Given the description of an element on the screen output the (x, y) to click on. 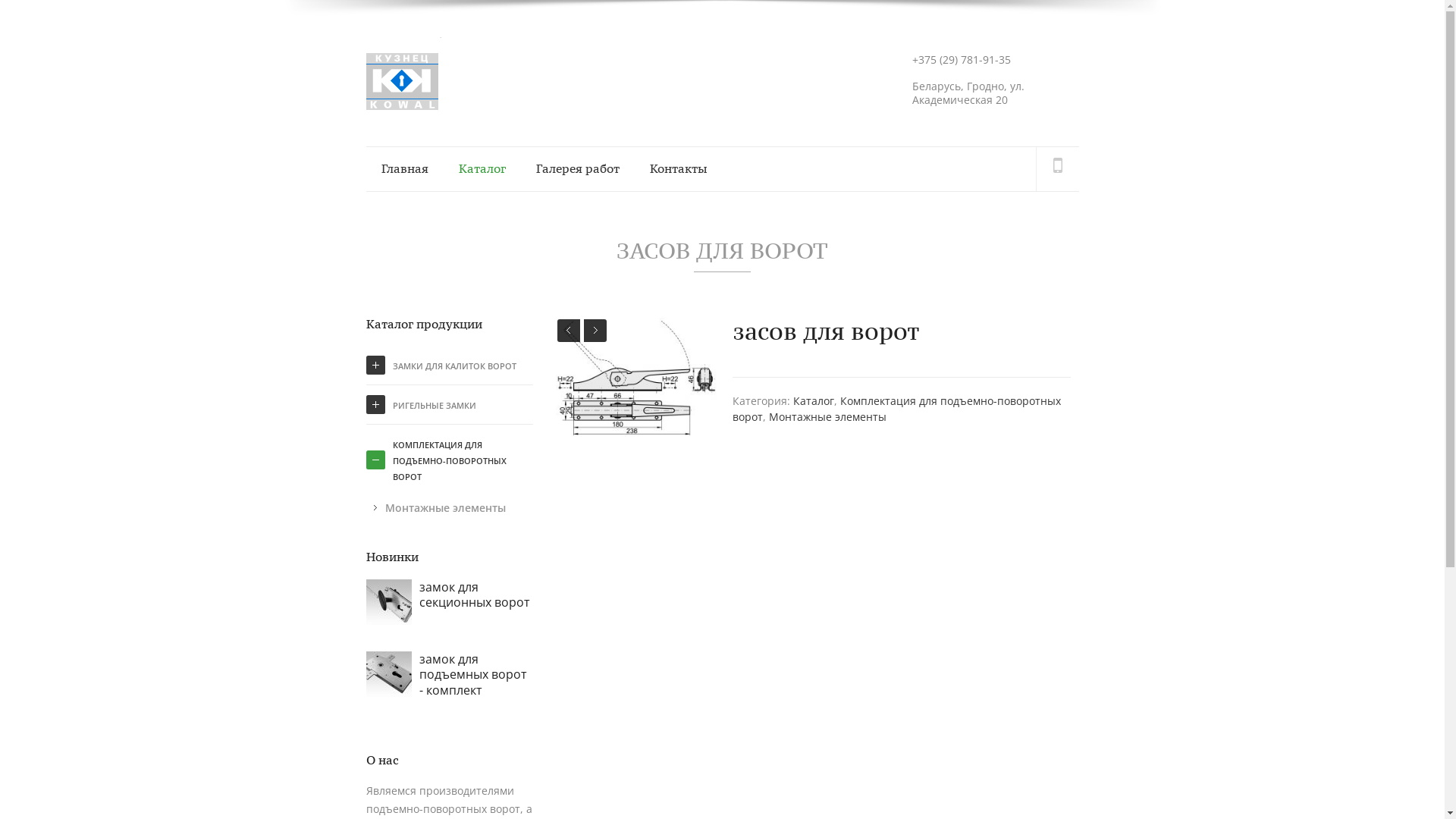
Prev Element type: text (568, 330)
Next Element type: text (594, 330)
